Given the description of an element on the screen output the (x, y) to click on. 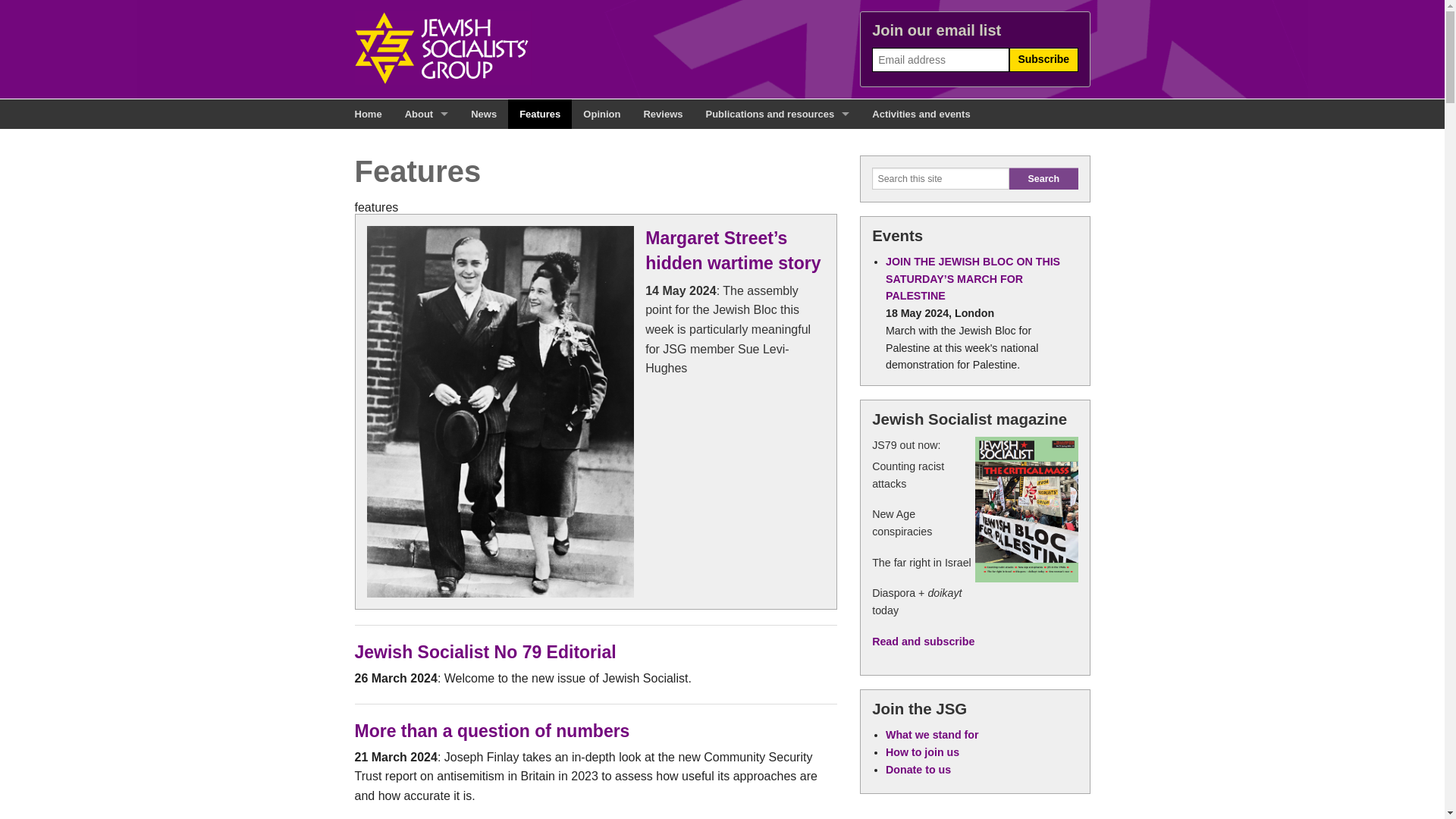
News (484, 113)
Features (540, 113)
Home (367, 113)
About (426, 113)
Opinion (601, 113)
Search (1043, 178)
Jewish Socialist No 79 Editorial (485, 651)
Reviews (662, 113)
Subscribe (1043, 58)
Publications and resources (777, 113)
More than a question of numbers (492, 731)
Subscribe (1043, 58)
Activities and events (920, 113)
